Given the description of an element on the screen output the (x, y) to click on. 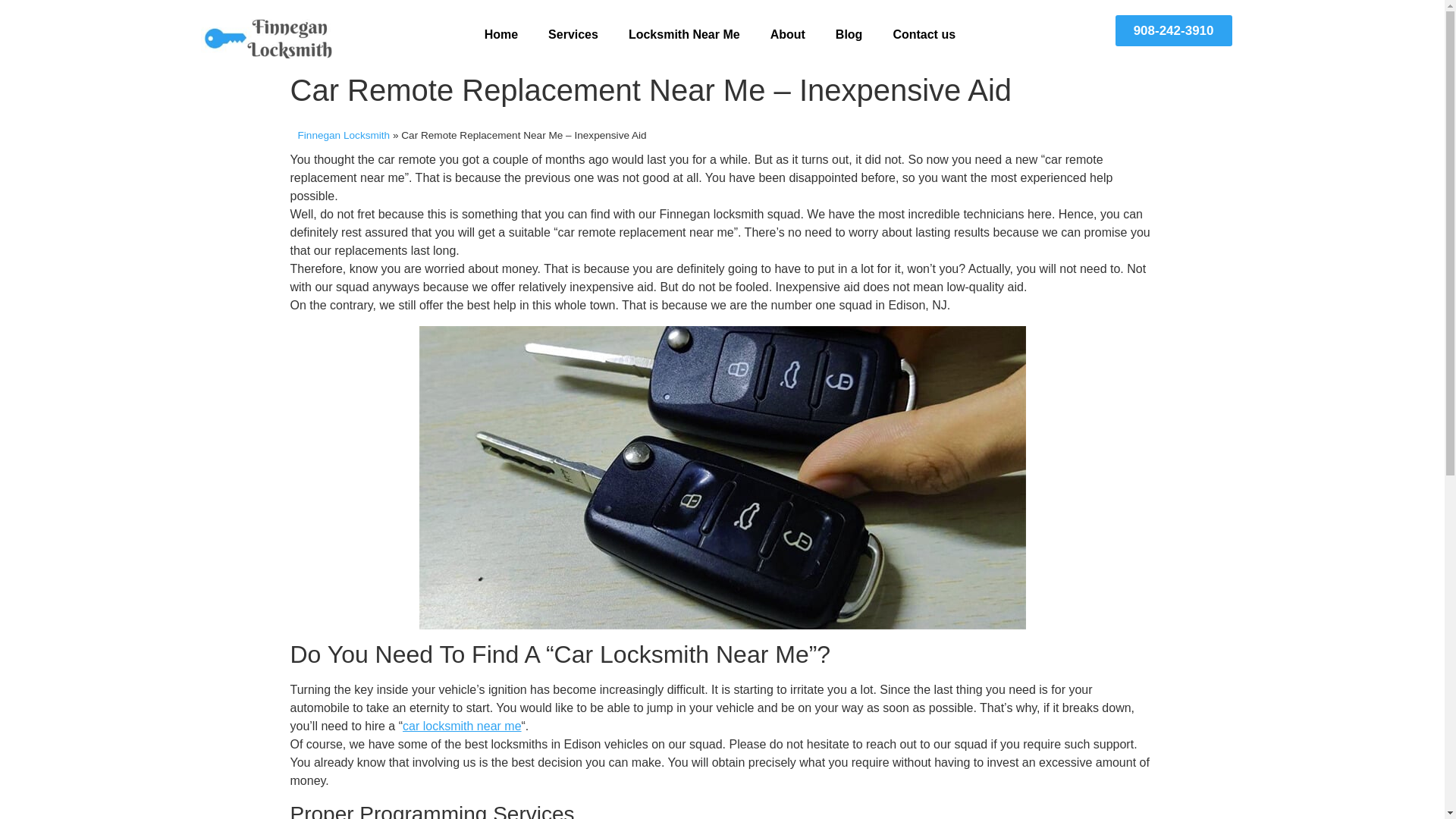
908-242-3910 (1173, 30)
Locksmith Near Me (683, 34)
Services (572, 34)
Services (572, 34)
Contact us (924, 34)
Home (500, 34)
About (788, 34)
Blog (849, 34)
